Given the description of an element on the screen output the (x, y) to click on. 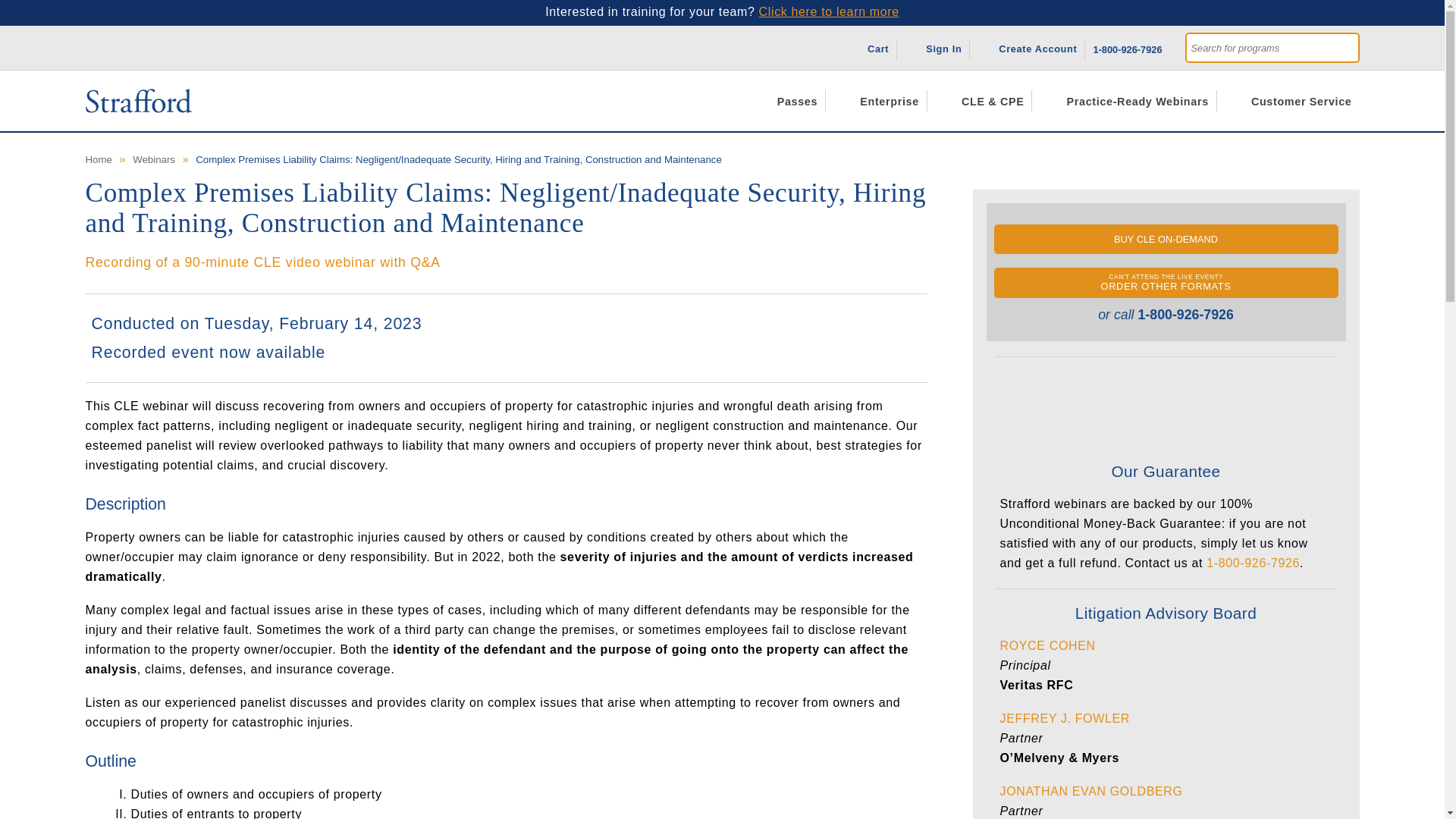
Passes (788, 100)
Sign In (936, 46)
Enterprise (880, 100)
Cart (870, 46)
1-800-926-7926 (1126, 47)
Create Account (1030, 46)
Click here to learn more (828, 11)
Buy CLE On-Demand (1165, 238)
